Given the description of an element on the screen output the (x, y) to click on. 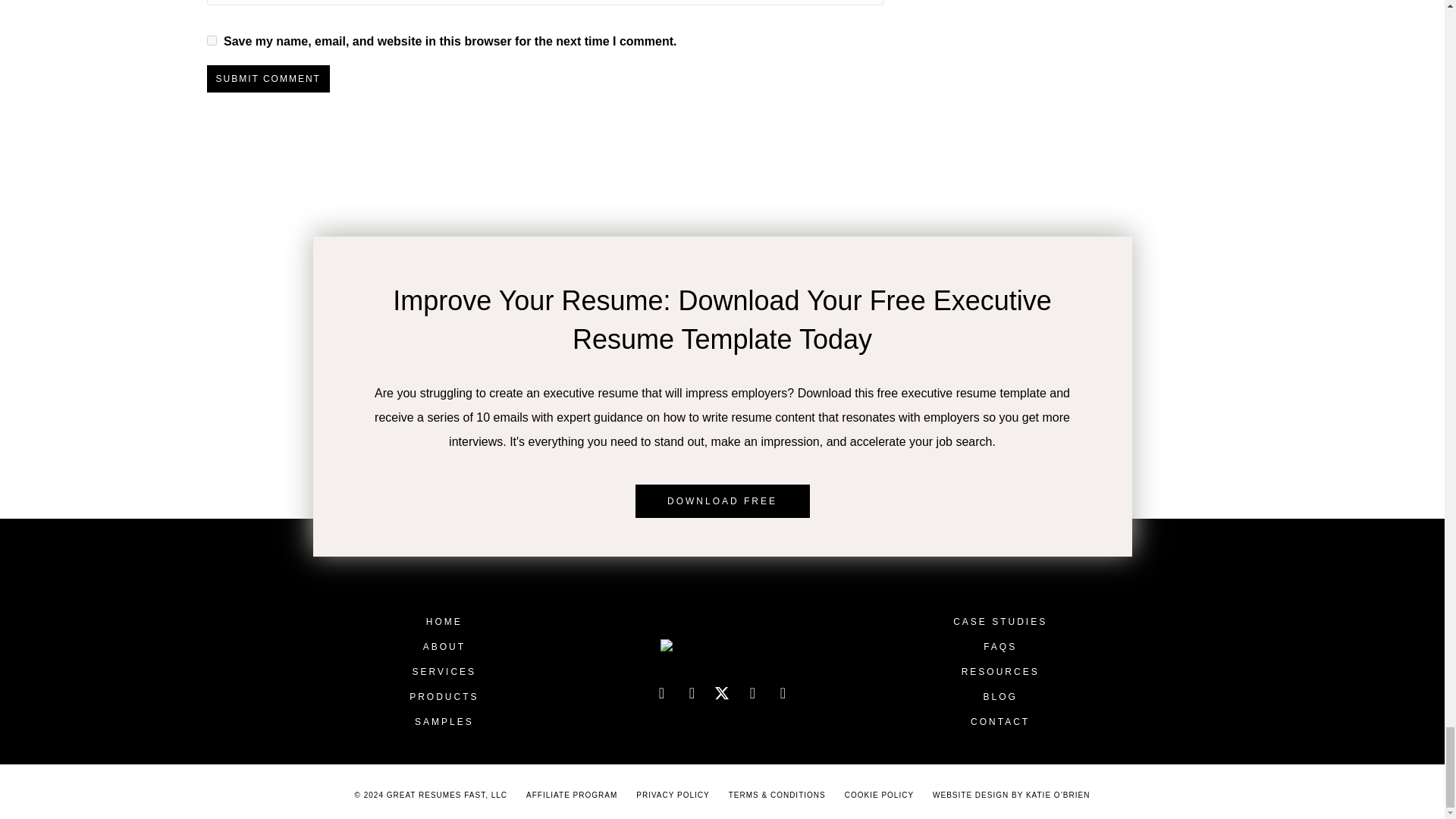
yes (210, 40)
Submit Comment (267, 78)
